Given the description of an element on the screen output the (x, y) to click on. 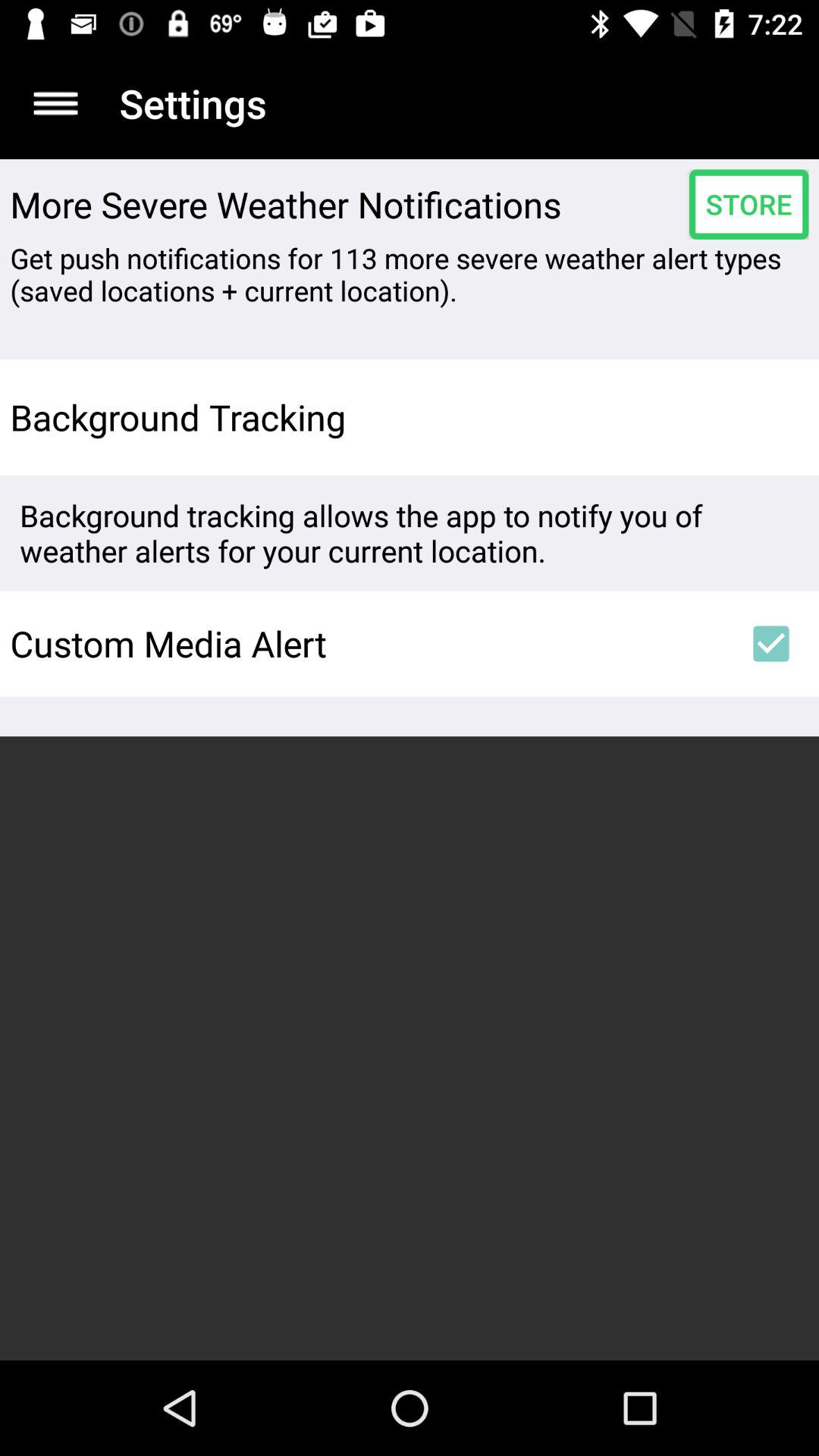
swipe to store (748, 204)
